Given the description of an element on the screen output the (x, y) to click on. 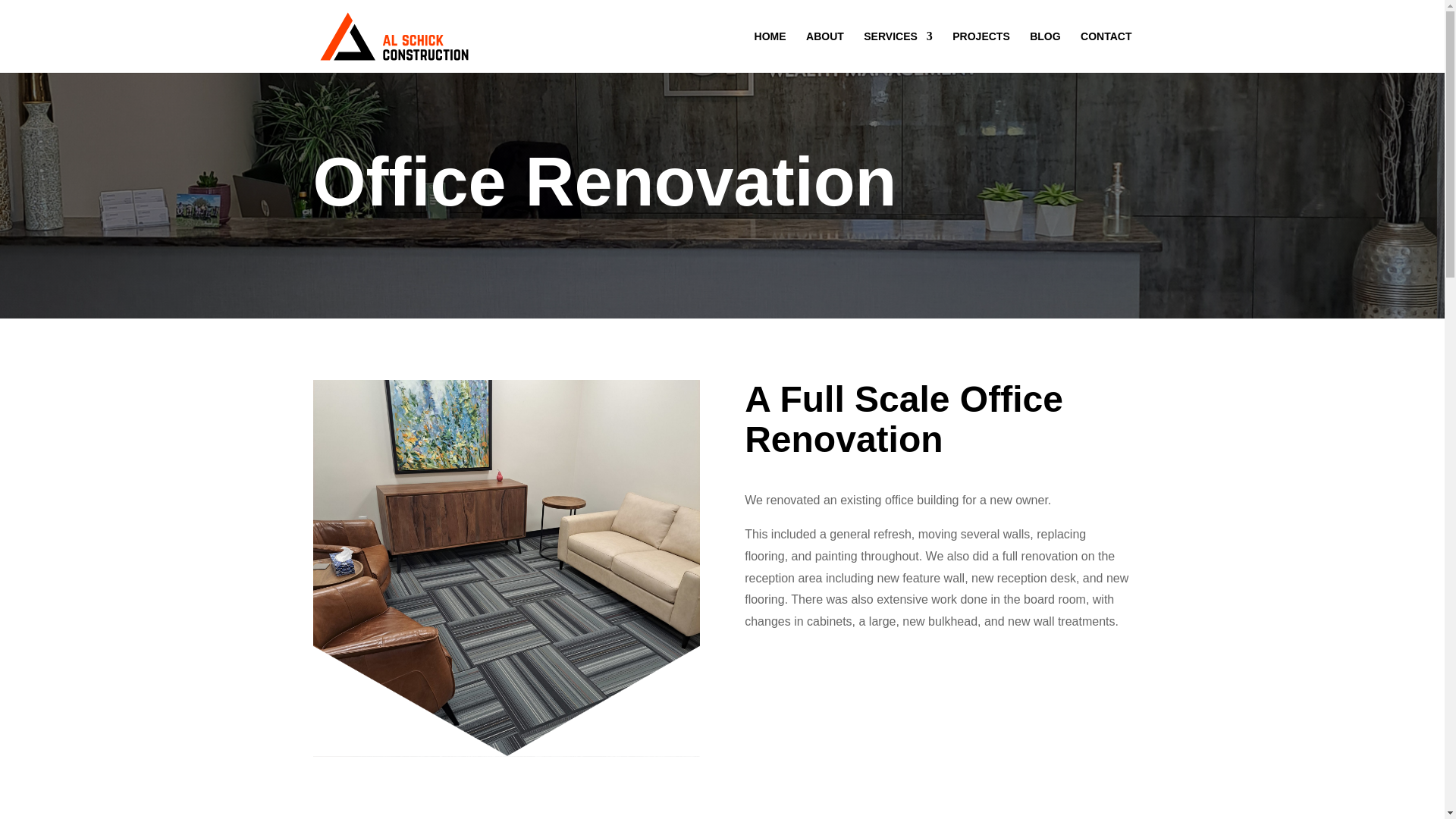
Lounge Area (505, 700)
SERVICES (898, 51)
CONTACT (1105, 51)
ABOUT (825, 51)
PROJECTS (980, 51)
